Given the description of an element on the screen output the (x, y) to click on. 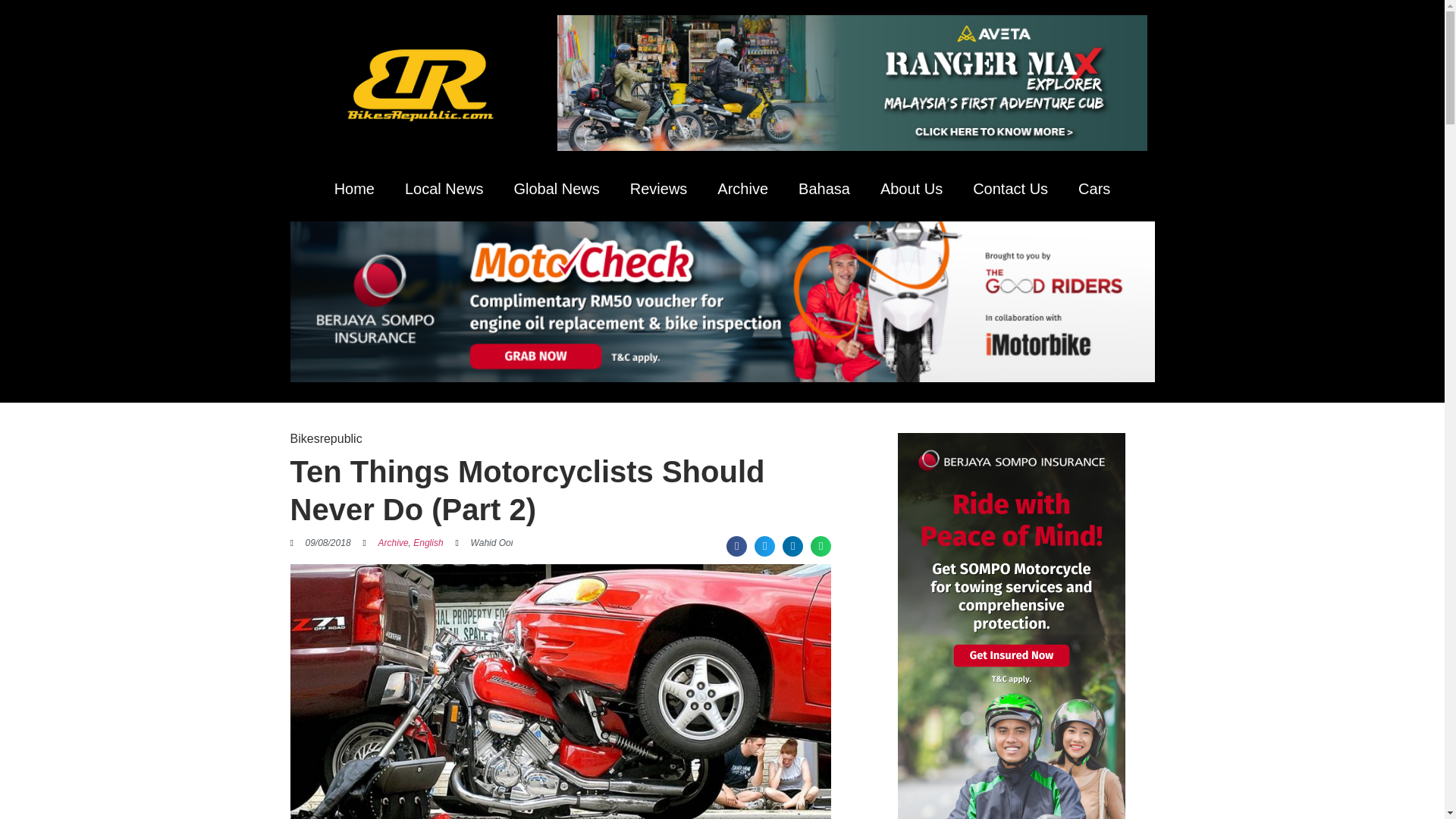
Bahasa (823, 188)
Wahid Ooi (484, 542)
Local News (443, 188)
English (427, 542)
Contact Us (1010, 188)
Archive (742, 188)
Cars (1093, 188)
Archive (393, 542)
Global News (555, 188)
About Us (911, 188)
Home (354, 188)
Reviews (658, 188)
